Given the description of an element on the screen output the (x, y) to click on. 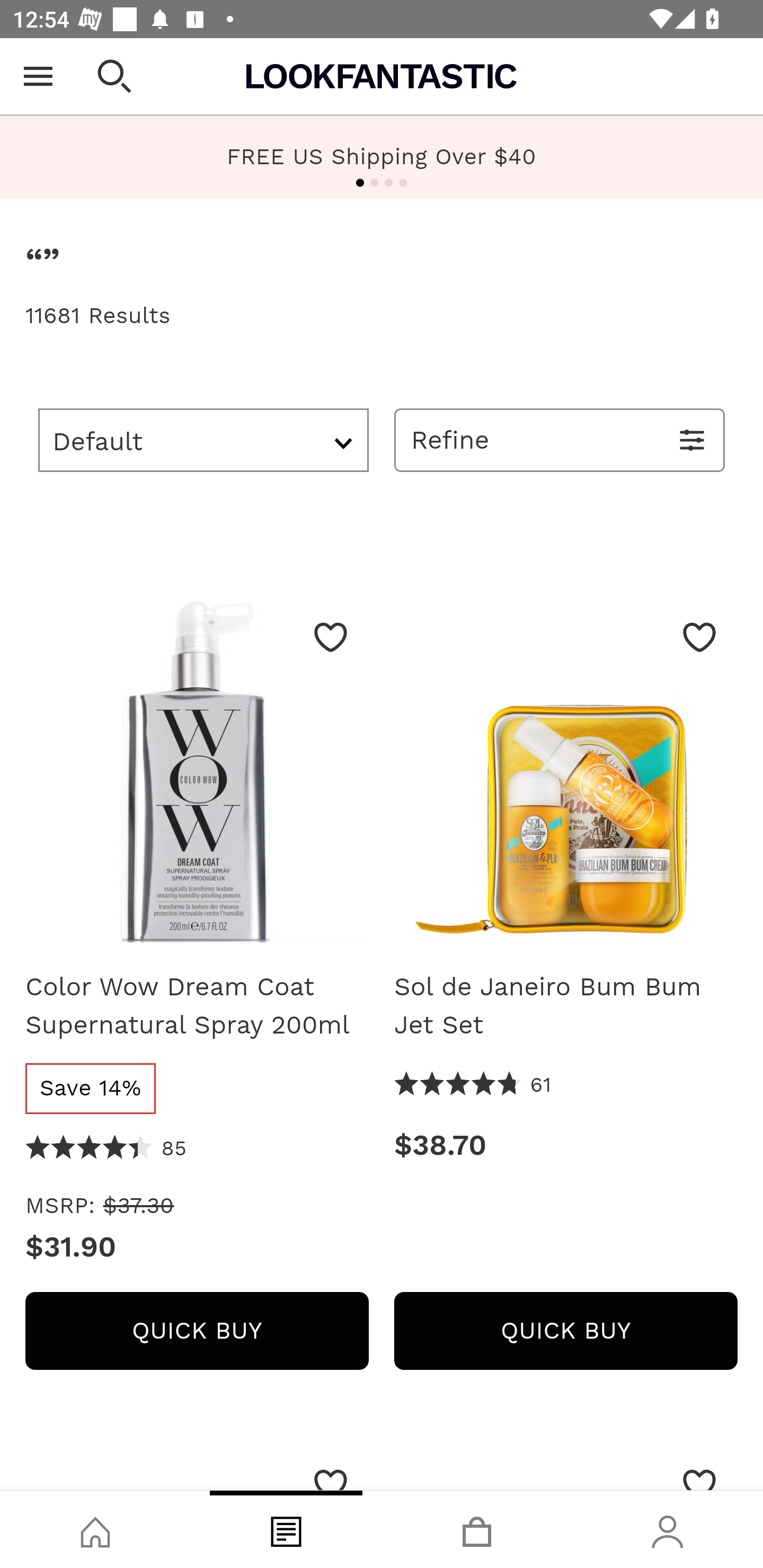
Open Menu (38, 75)
Open search (114, 75)
Lookfantastic USA (381, 75)
FREE US Shipping Over $40 (381, 157)
FREE US Shipping Over $40 (381, 155)
Default (203, 439)
Refine (559, 439)
Color Wow Dream Coat Supernatural Spray 200ml (196, 776)
Sol de Janeiro Bum Bum Jet Set (565, 776)
Save to Wishlist (330, 637)
Save to Wishlist (698, 637)
Color Wow Dream Coat Supernatural Spray 200ml (196, 1005)
Sol de Janeiro Bum Bum Jet Set (565, 1005)
Save 14%, read more (90, 1088)
4.77 Stars 61 Reviews (473, 1085)
Price: $38.70 (565, 1146)
4.42 Stars 85 Reviews (106, 1149)
QUICK BUY SOL DE JANEIRO BUM BUM JET SET (565, 1330)
Save to Wishlist (330, 1470)
Save to Wishlist (698, 1470)
Shop, tab, 1 of 4 (95, 1529)
Blog, tab, 2 of 4 (285, 1529)
Basket, tab, 3 of 4 (476, 1529)
Account, tab, 4 of 4 (667, 1529)
